Given the description of an element on the screen output the (x, y) to click on. 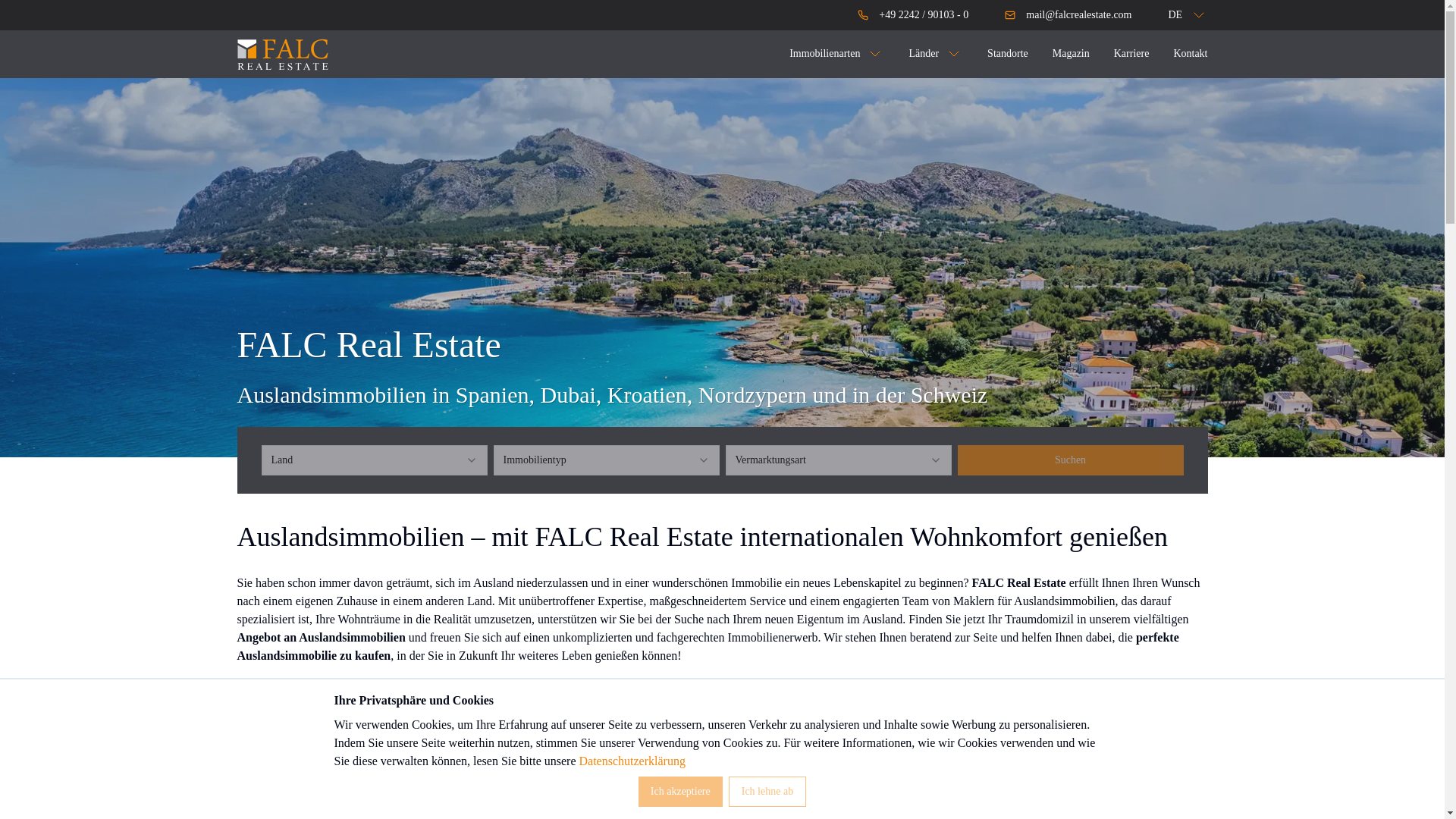
Ich akzeptiere (680, 791)
Ich lehne ab (767, 791)
Standorte (1007, 53)
Kontakt (1190, 53)
Magazin (1070, 53)
Immobilienarten (836, 54)
DE (1176, 14)
Karriere (1131, 53)
